Given the description of an element on the screen output the (x, y) to click on. 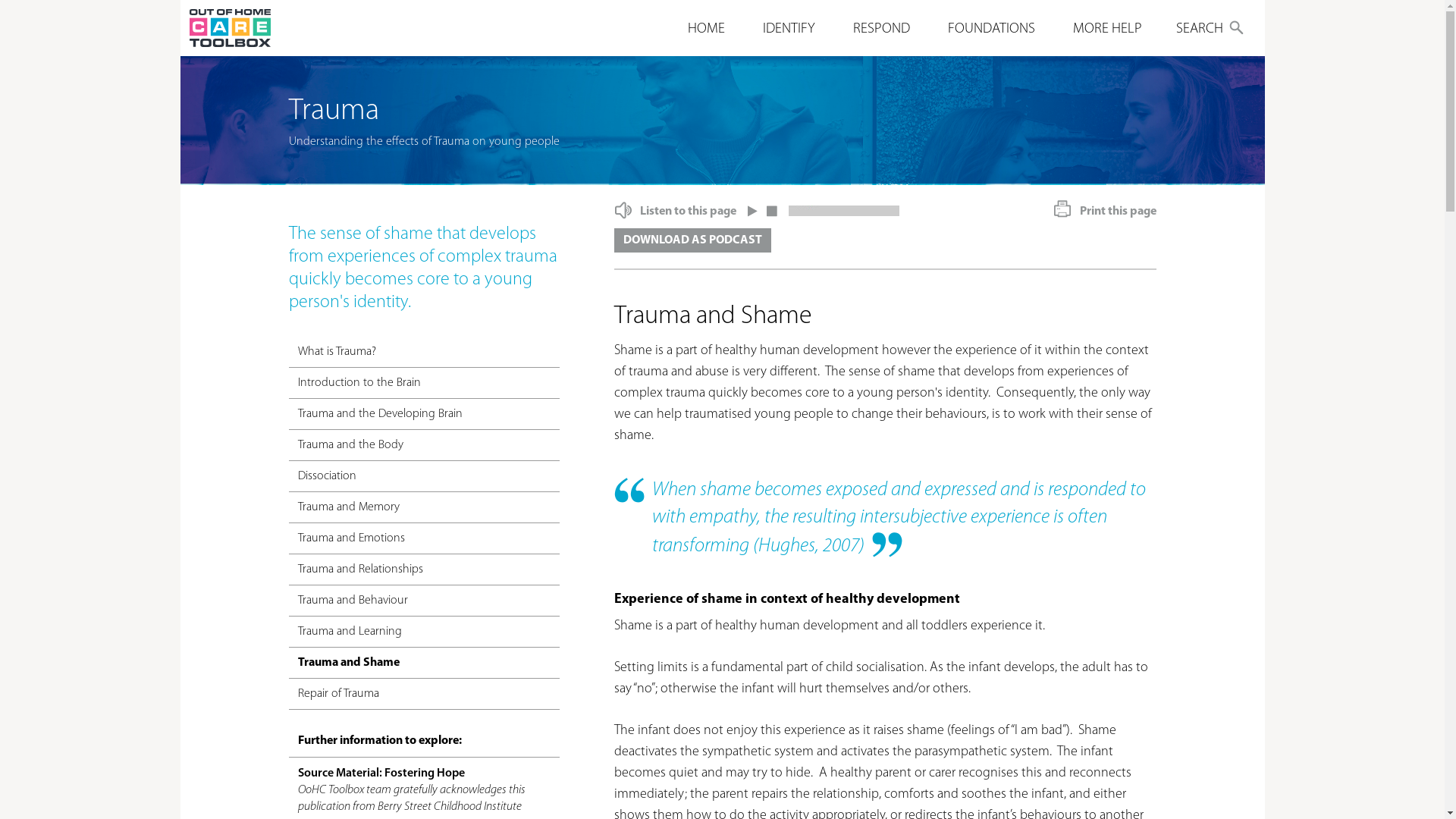
Trauma and Relationships Element type: text (423, 569)
RESPOND Element type: text (880, 28)
Dissociation Element type: text (423, 476)
Print this page Element type: text (1105, 211)
Trauma and Behaviour Element type: text (423, 600)
Trauma and Emotions Element type: text (423, 538)
Trauma and Memory Element type: text (423, 507)
IDENTIFY Element type: text (788, 28)
Trauma and the Developing Brain Element type: text (423, 413)
FOUNDATIONS Element type: text (991, 28)
MORE HELP Element type: text (1106, 28)
Trauma and Learning Element type: text (423, 631)
SEARCH Element type: text (1211, 29)
HOME Element type: text (705, 28)
Jump to navigation Element type: text (722, 2)
Trauma and Shame Element type: text (423, 662)
Trauma and the Body Element type: text (423, 445)
DOWNLOAD AS PODCAST Element type: text (692, 240)
play Element type: text (753, 207)
What is Trauma? Element type: text (423, 351)
stop Element type: text (771, 207)
Repair of Trauma Element type: text (423, 693)
Introduction to the Brain Element type: text (423, 382)
Home Element type: hover (230, 28)
